Given the description of an element on the screen output the (x, y) to click on. 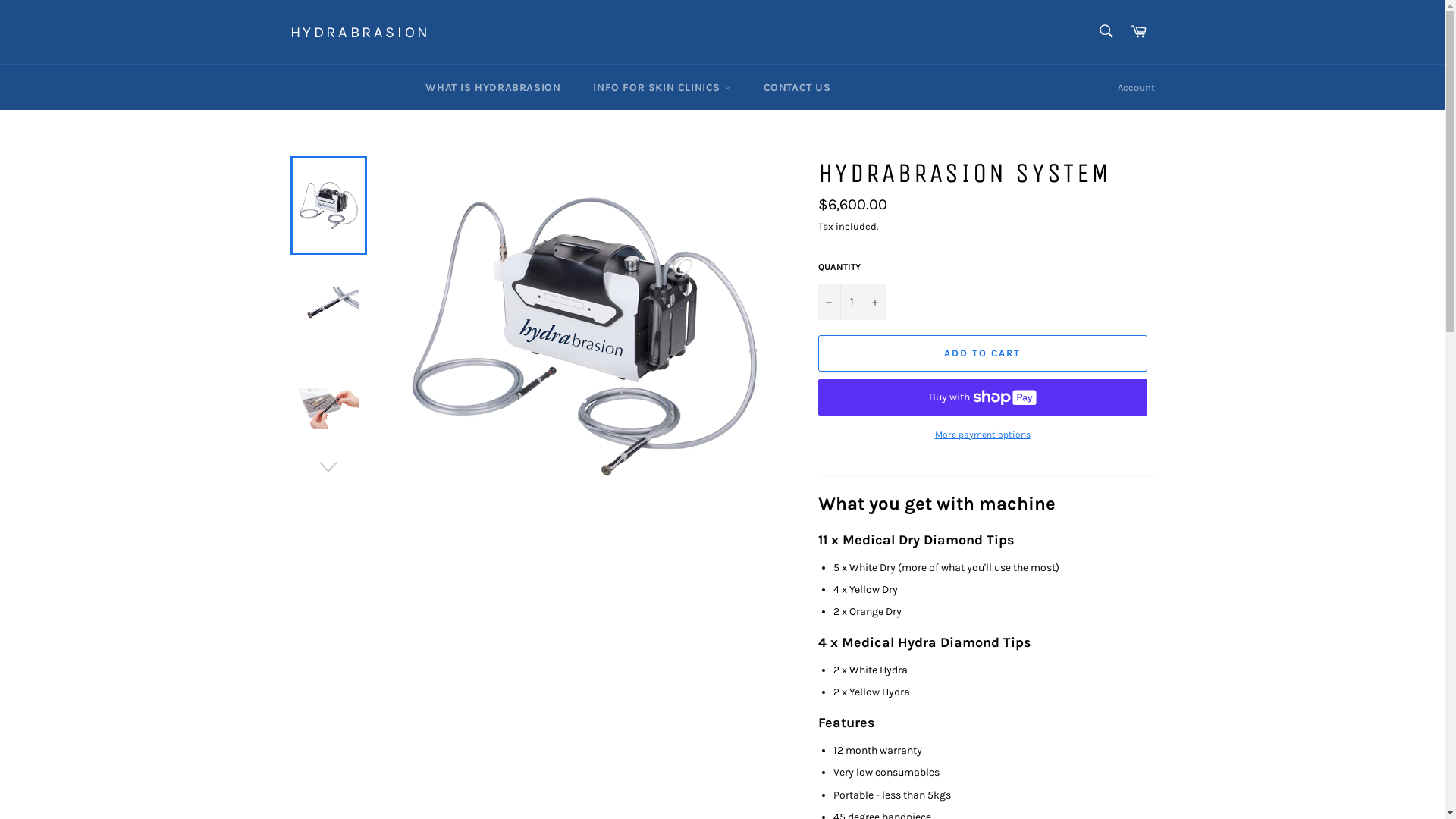
CONTACT US Element type: text (797, 87)
ADD TO CART Element type: text (981, 353)
HYDRABRASION Element type: text (359, 32)
INFO FOR SKIN CLINICS Element type: text (661, 87)
Cart Element type: text (1138, 32)
More payment options Element type: text (981, 434)
Account Element type: text (1136, 87)
Search Element type: text (1105, 31)
WHAT IS HYDRABRASION Element type: text (492, 87)
+ Element type: text (873, 301)
